Given the description of an element on the screen output the (x, y) to click on. 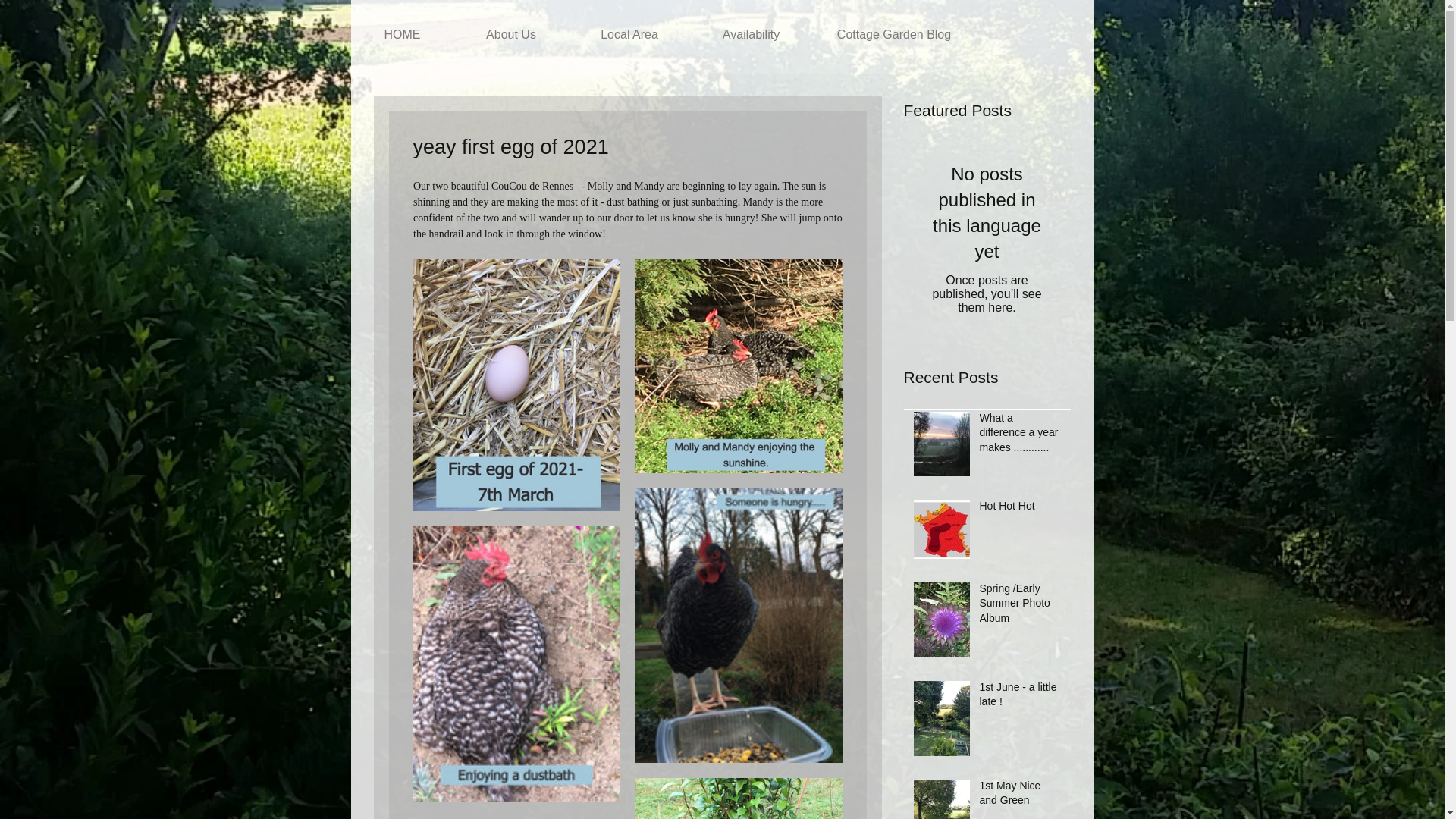
Cottage Garden Blog (892, 34)
HOME (402, 34)
About Us (510, 34)
Local Area (629, 34)
1st May Nice and Green (1020, 796)
1st June - a little late ! (1020, 697)
What a difference a year makes ............ (1020, 436)
Hot Hot Hot (1020, 509)
Availability (751, 34)
